Given the description of an element on the screen output the (x, y) to click on. 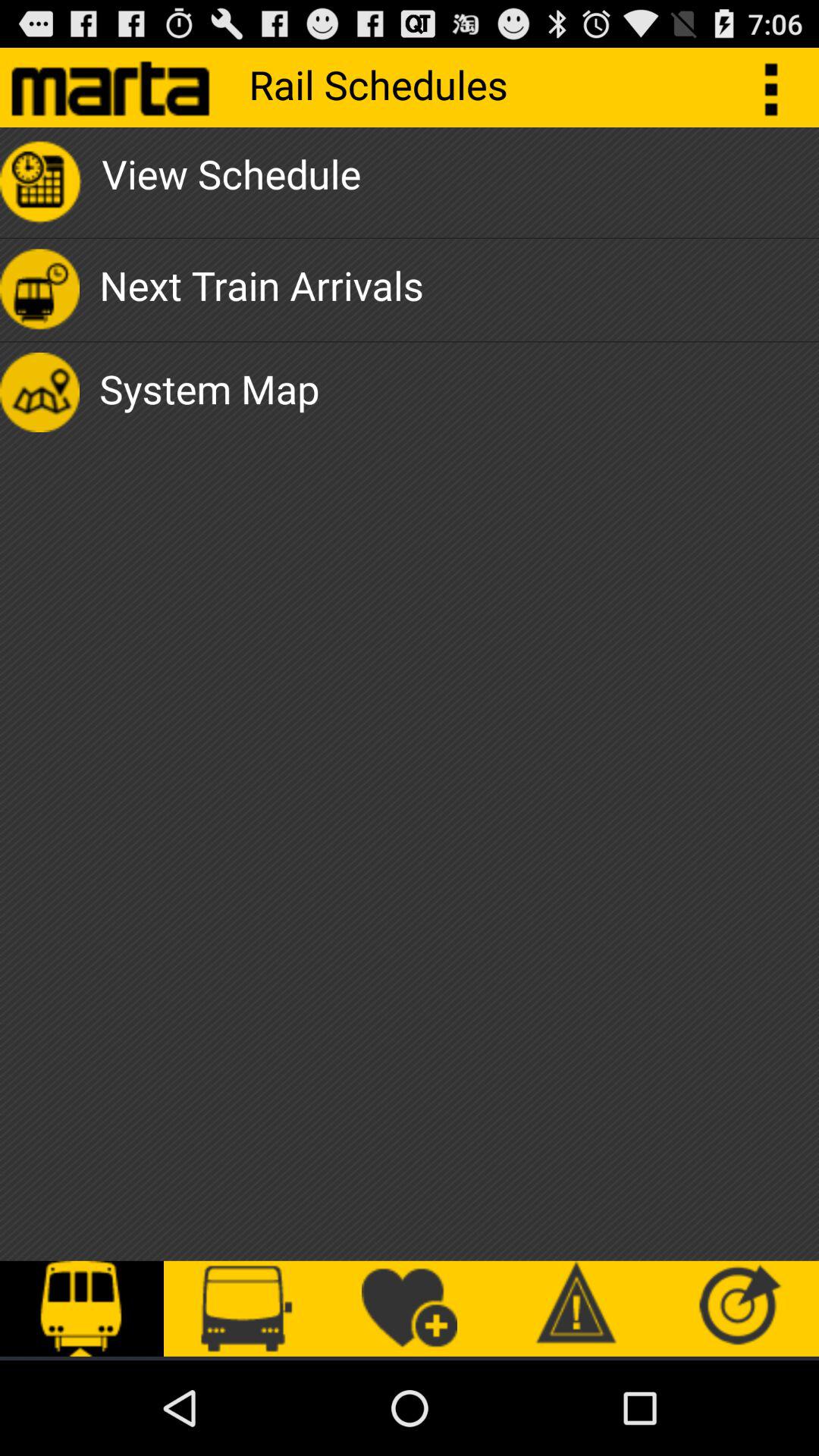
press item next to view schedule icon (779, 87)
